Given the description of an element on the screen output the (x, y) to click on. 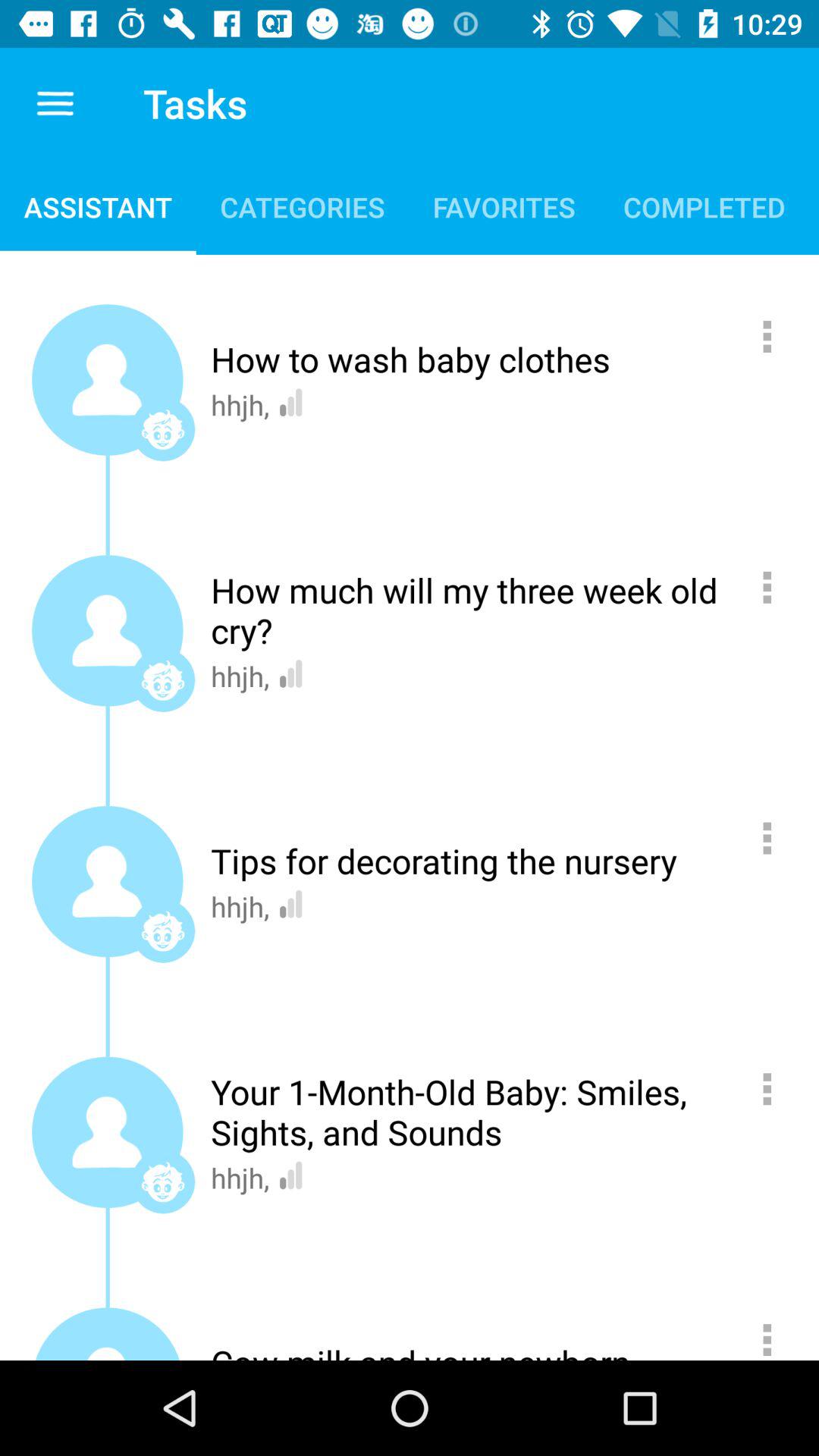
view more information (775, 1089)
